Given the description of an element on the screen output the (x, y) to click on. 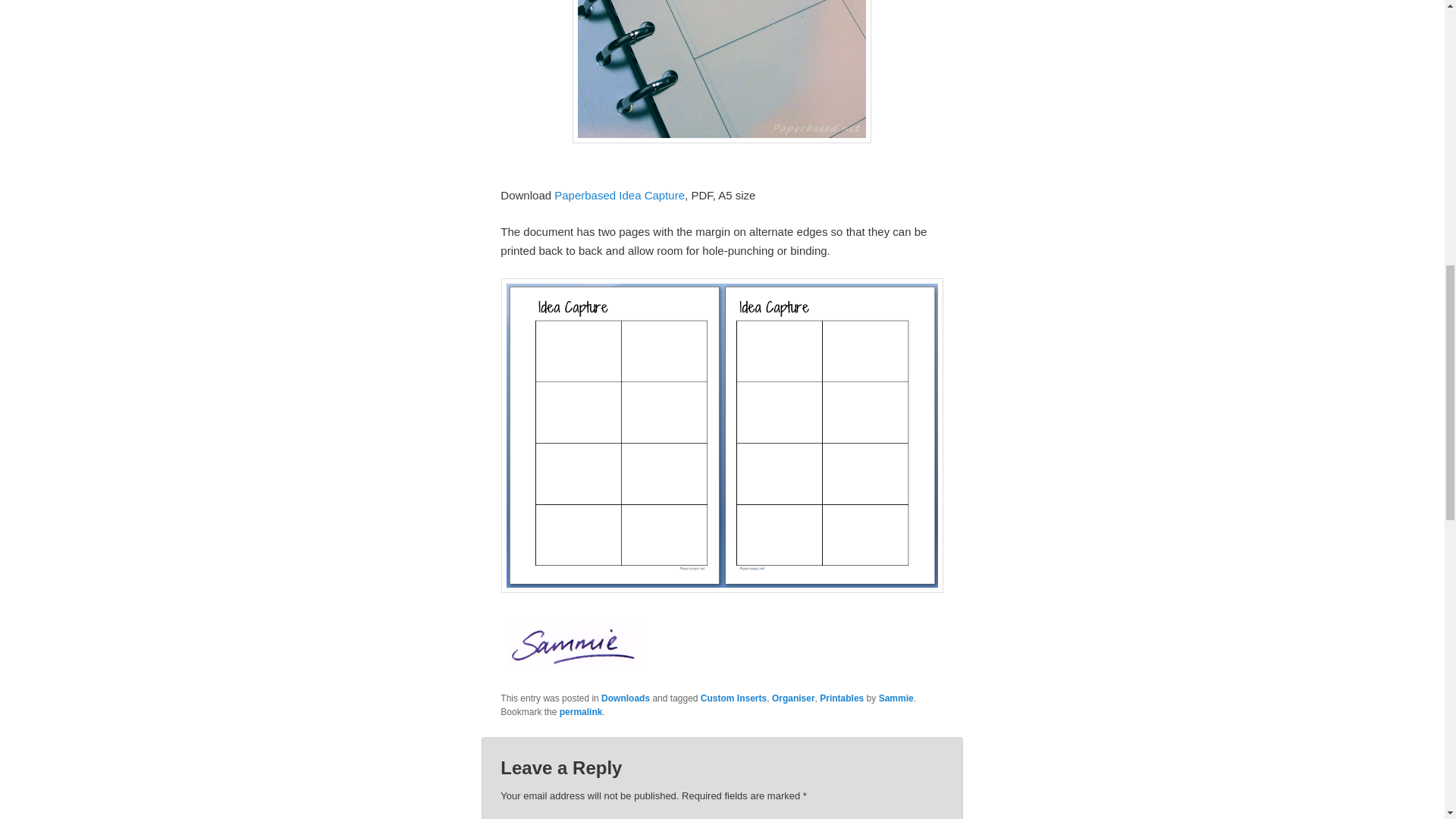
Organiser (793, 697)
Downloads (625, 697)
permalink (580, 711)
Printables (841, 697)
Sammie (896, 697)
Custom Inserts (733, 697)
Paperbased Idea Capture (619, 194)
Permalink to Ideas Capture Printable Organiser Page (580, 711)
